Given the description of an element on the screen output the (x, y) to click on. 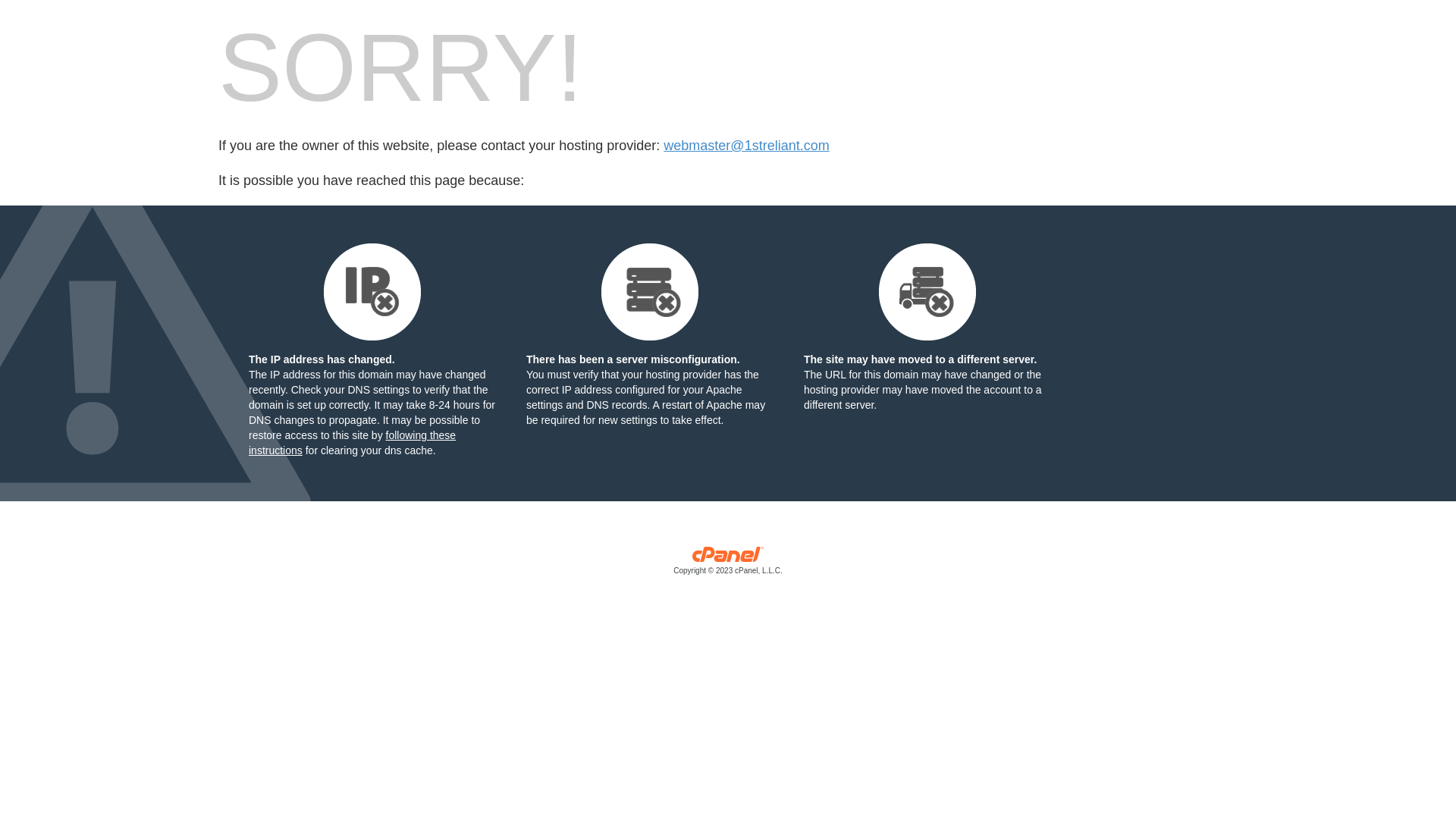
webmaster@1streliant.com Element type: text (745, 145)
following these instructions Element type: text (351, 442)
